Given the description of an element on the screen output the (x, y) to click on. 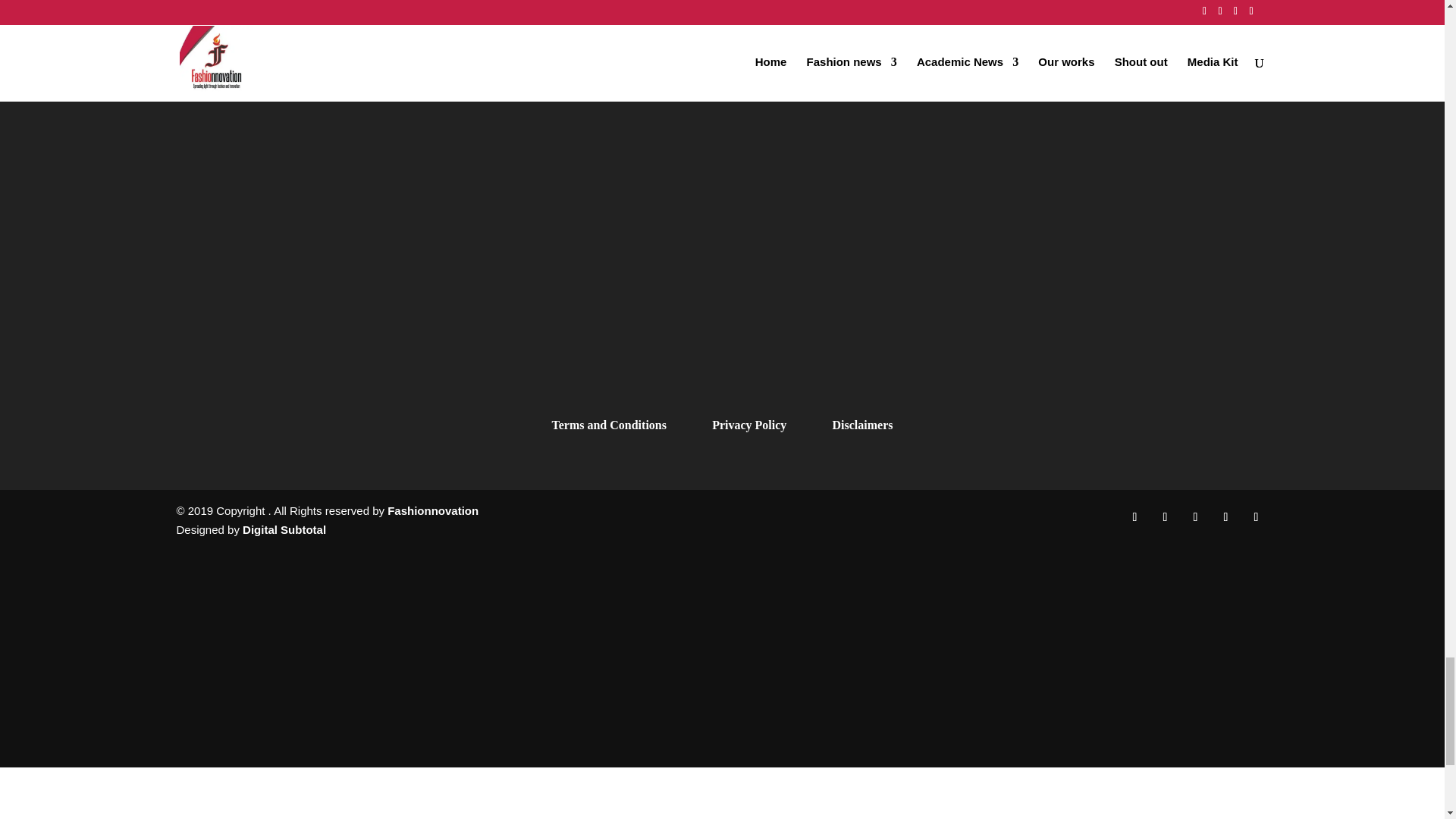
Follow on Pinterest (1224, 517)
Follow on Youtube (1255, 517)
Follow on LinkedIn (1194, 517)
Follow on Instagram (1164, 517)
Follow on Facebook (1134, 517)
